Given the description of an element on the screen output the (x, y) to click on. 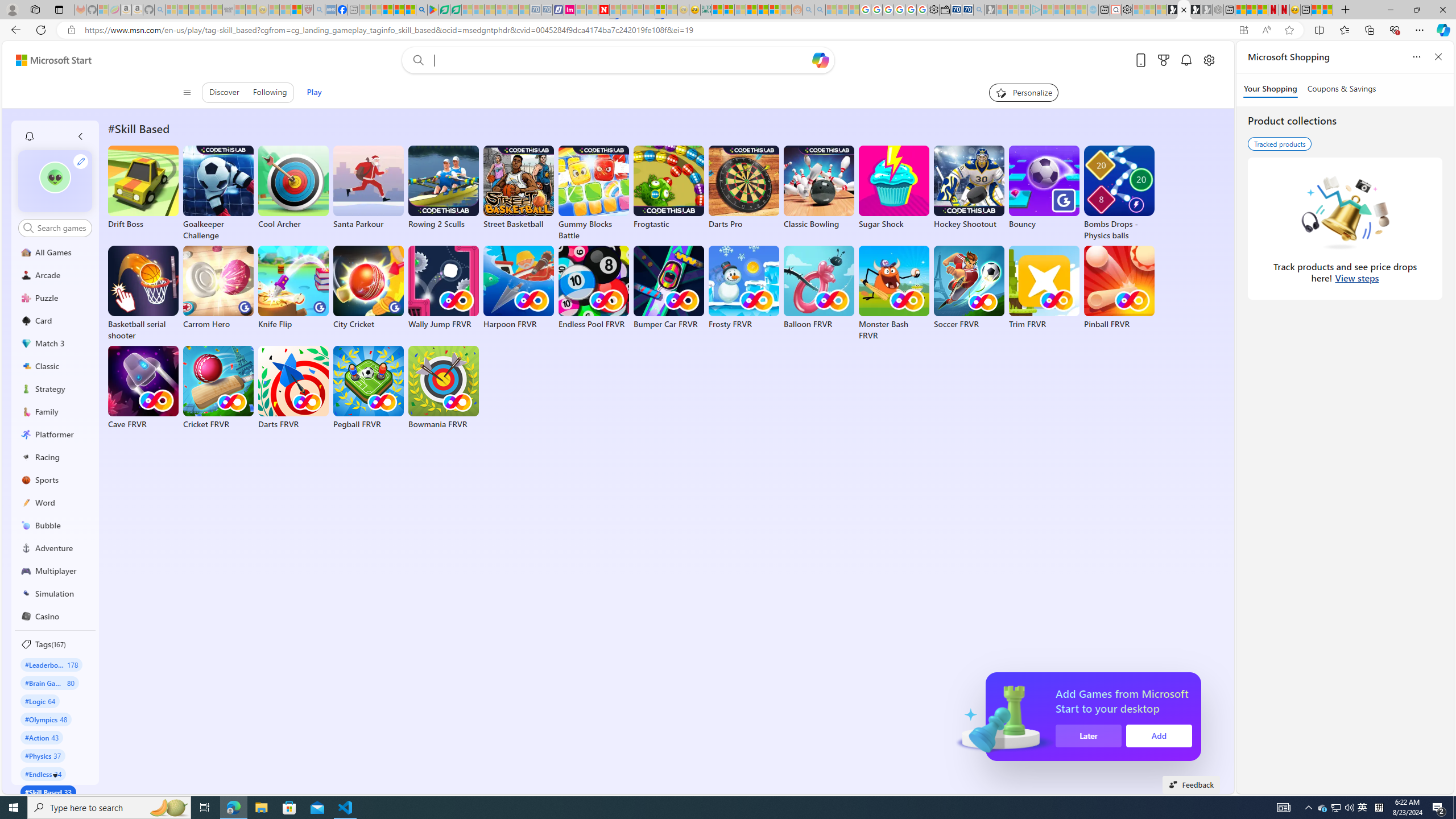
Expert Portfolios (751, 9)
Class: arrow-bottom button-default-style-remove (55, 775)
Cricket FRVR (218, 387)
Balloon FRVR (818, 287)
Carrom Hero (218, 287)
